Given the description of an element on the screen output the (x, y) to click on. 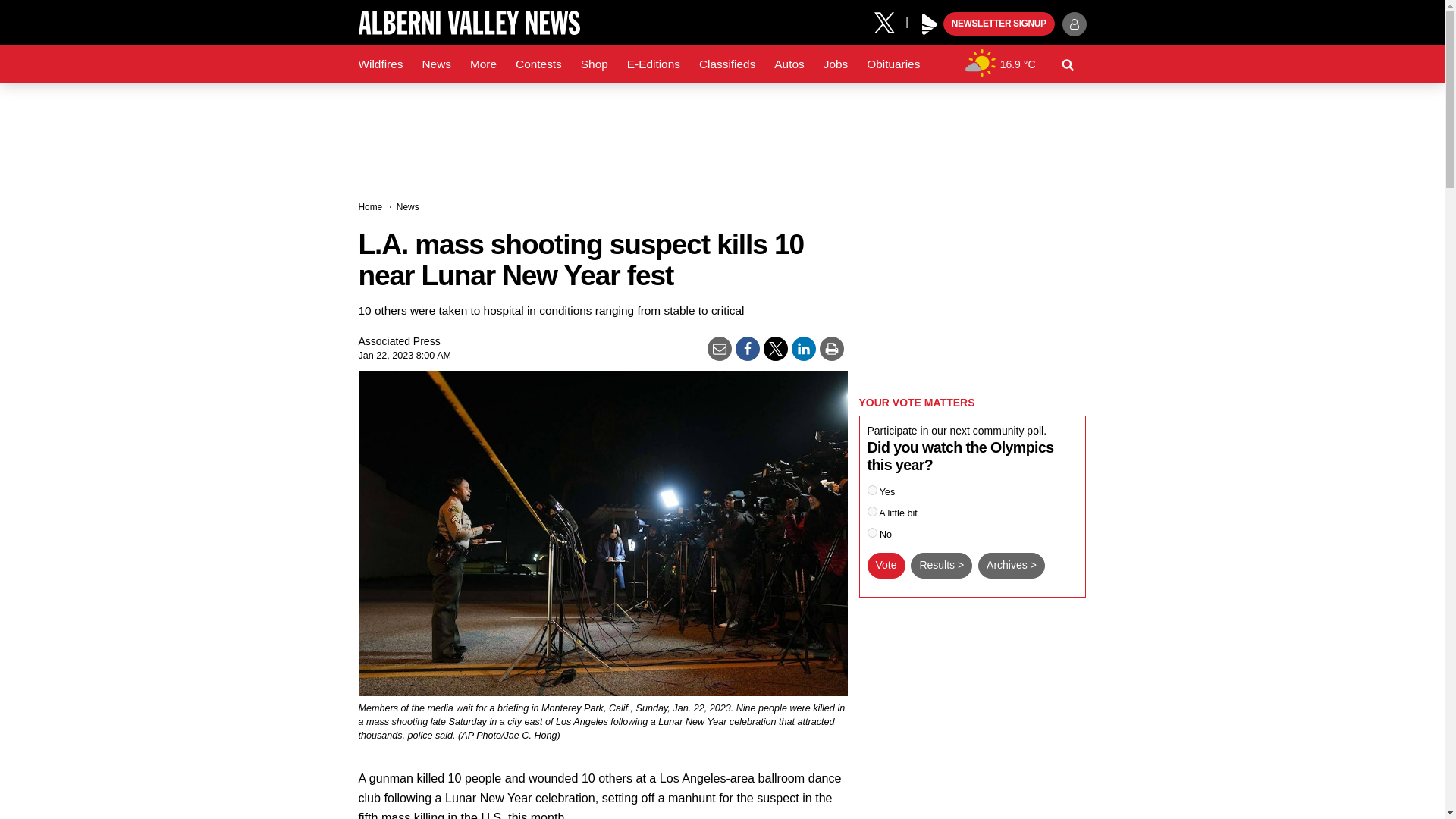
Wildfires (380, 64)
264 (872, 532)
NEWSLETTER SIGNUP (998, 24)
News (435, 64)
X (889, 21)
262 (872, 490)
263 (872, 511)
Play (929, 24)
Black Press Media (929, 24)
